Given the description of an element on the screen output the (x, y) to click on. 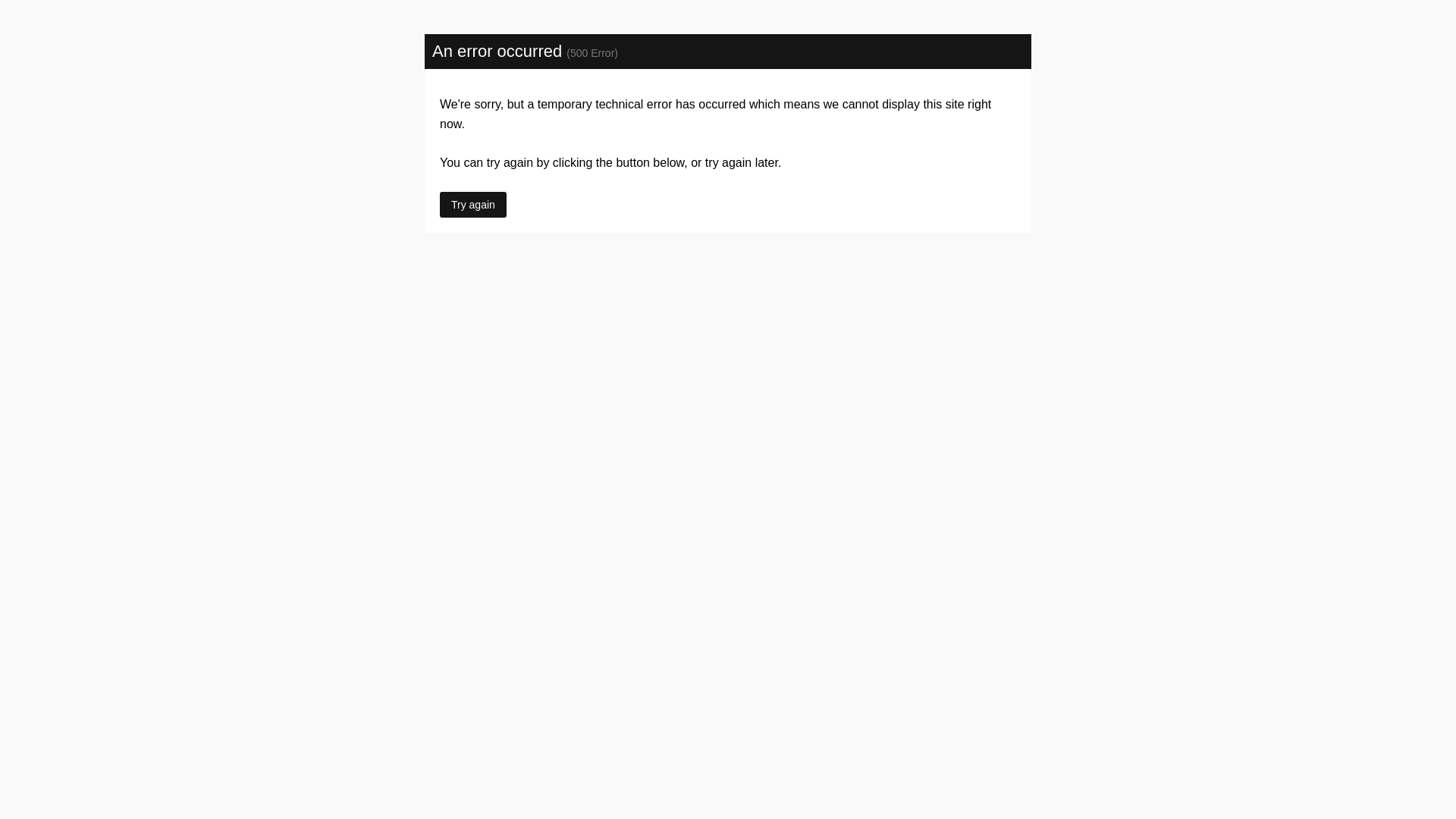
Try again (472, 204)
